Given the description of an element on the screen output the (x, y) to click on. 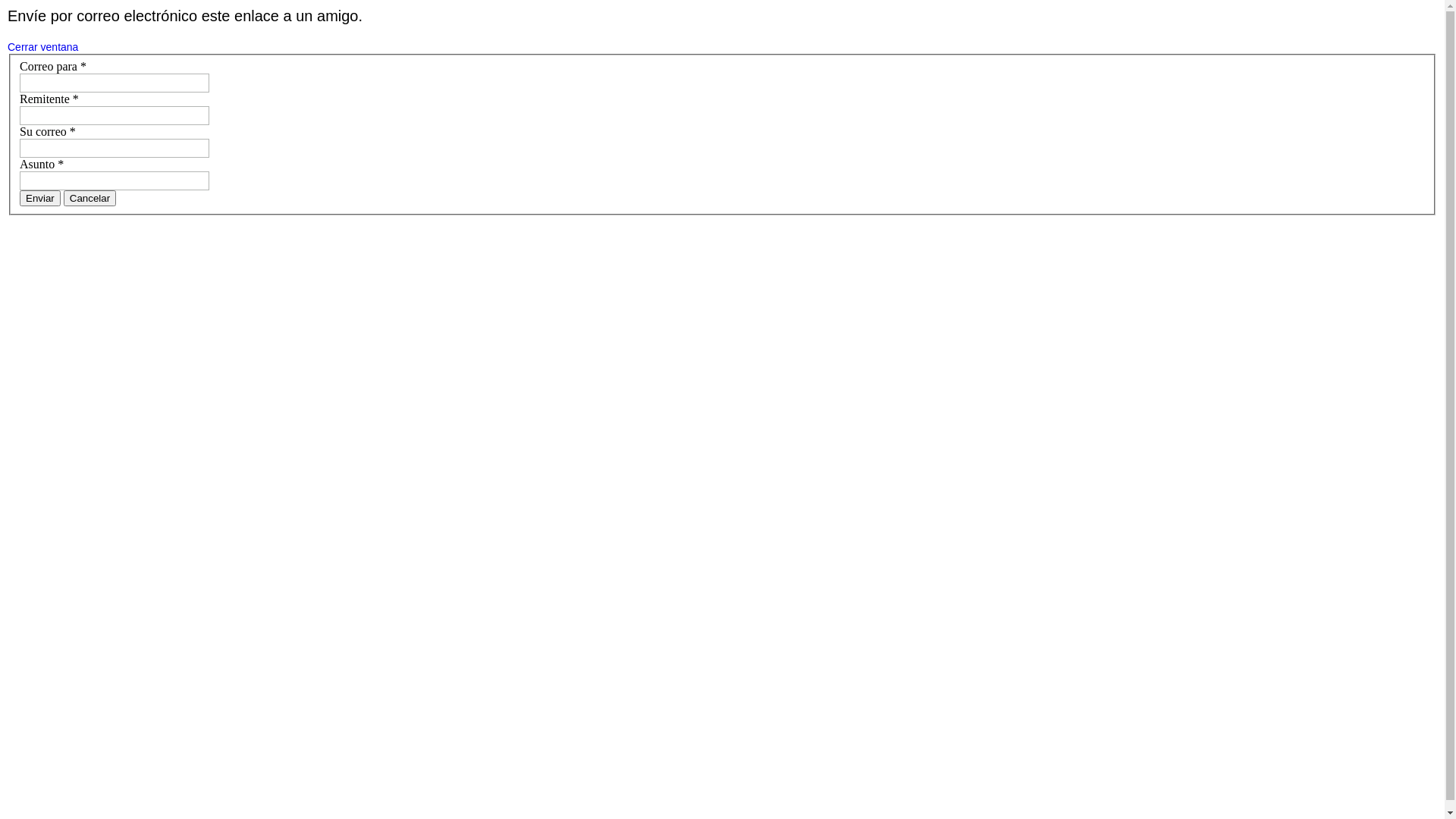
Cerrar ventana Element type: text (42, 46)
Enviar Element type: text (39, 198)
Cancelar Element type: text (89, 198)
